Given the description of an element on the screen output the (x, y) to click on. 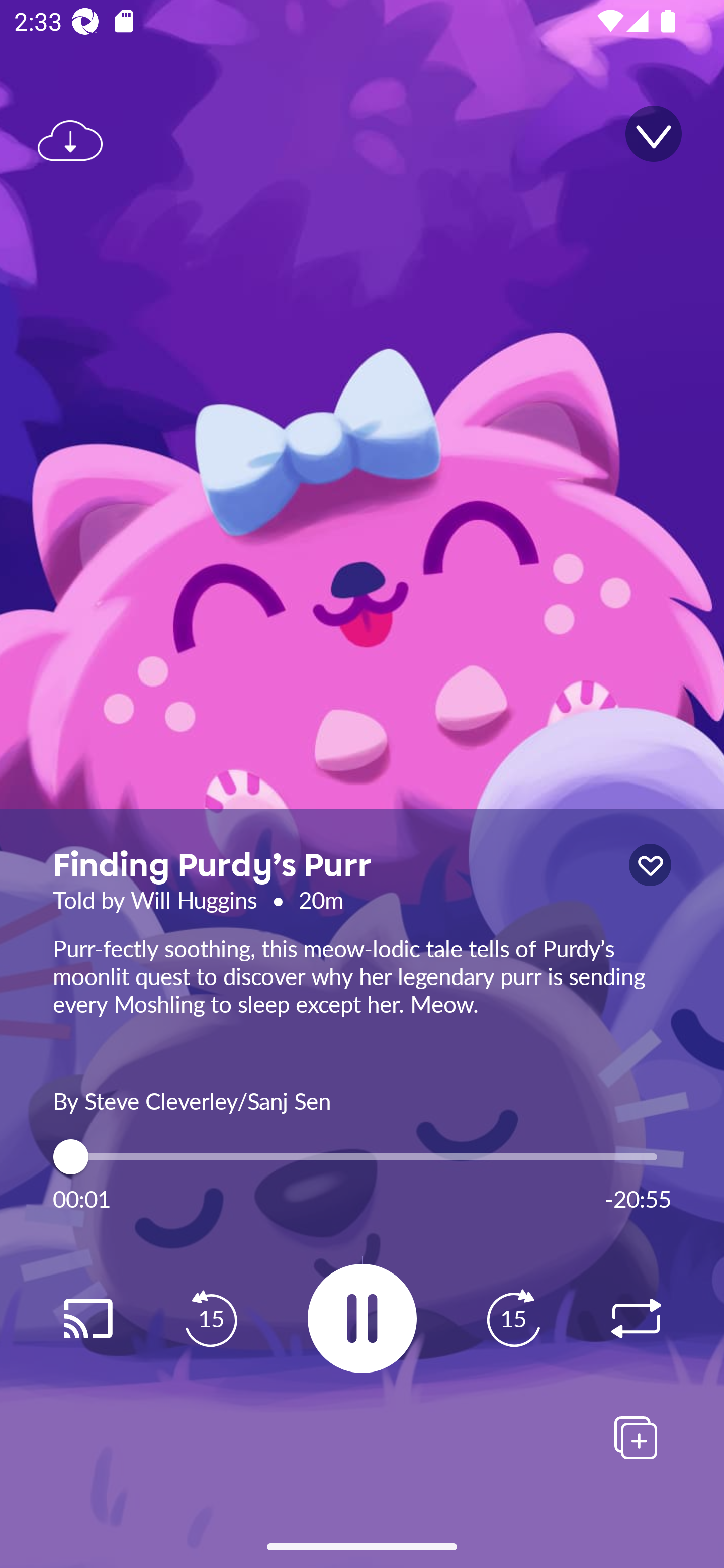
lock icon (650, 865)
By Steve Cleverley/Sanj Sen (361, 1098)
8.265712E-4 Pause (361, 1317)
Replay (87, 1318)
Replay 15 (210, 1318)
Replay 15 (513, 1318)
Replay (635, 1318)
Add To Playlists (635, 1437)
